Given the description of an element on the screen output the (x, y) to click on. 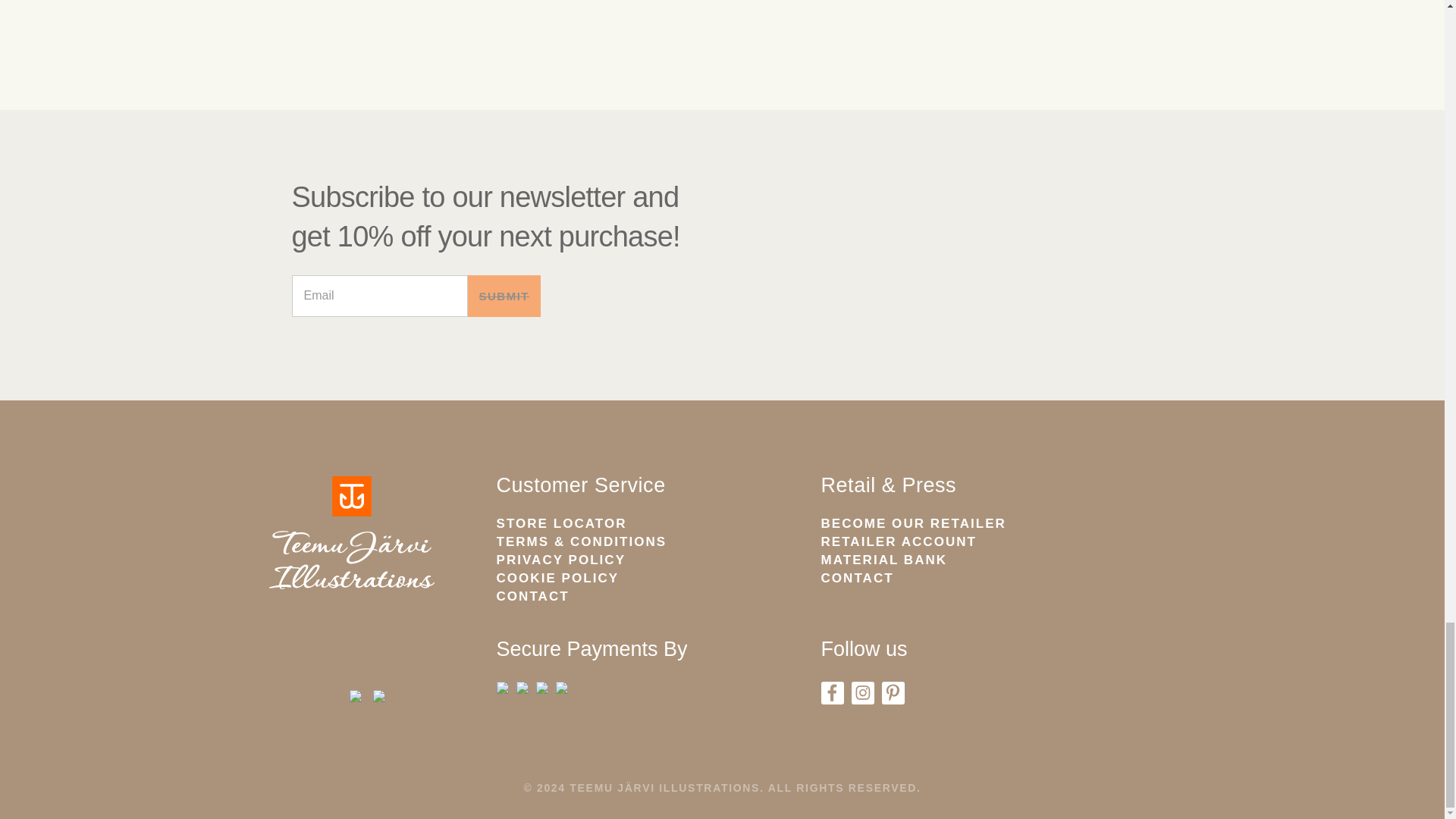
instagram-link (861, 692)
facebook-link (832, 692)
pinterest-link (892, 692)
